Given the description of an element on the screen output the (x, y) to click on. 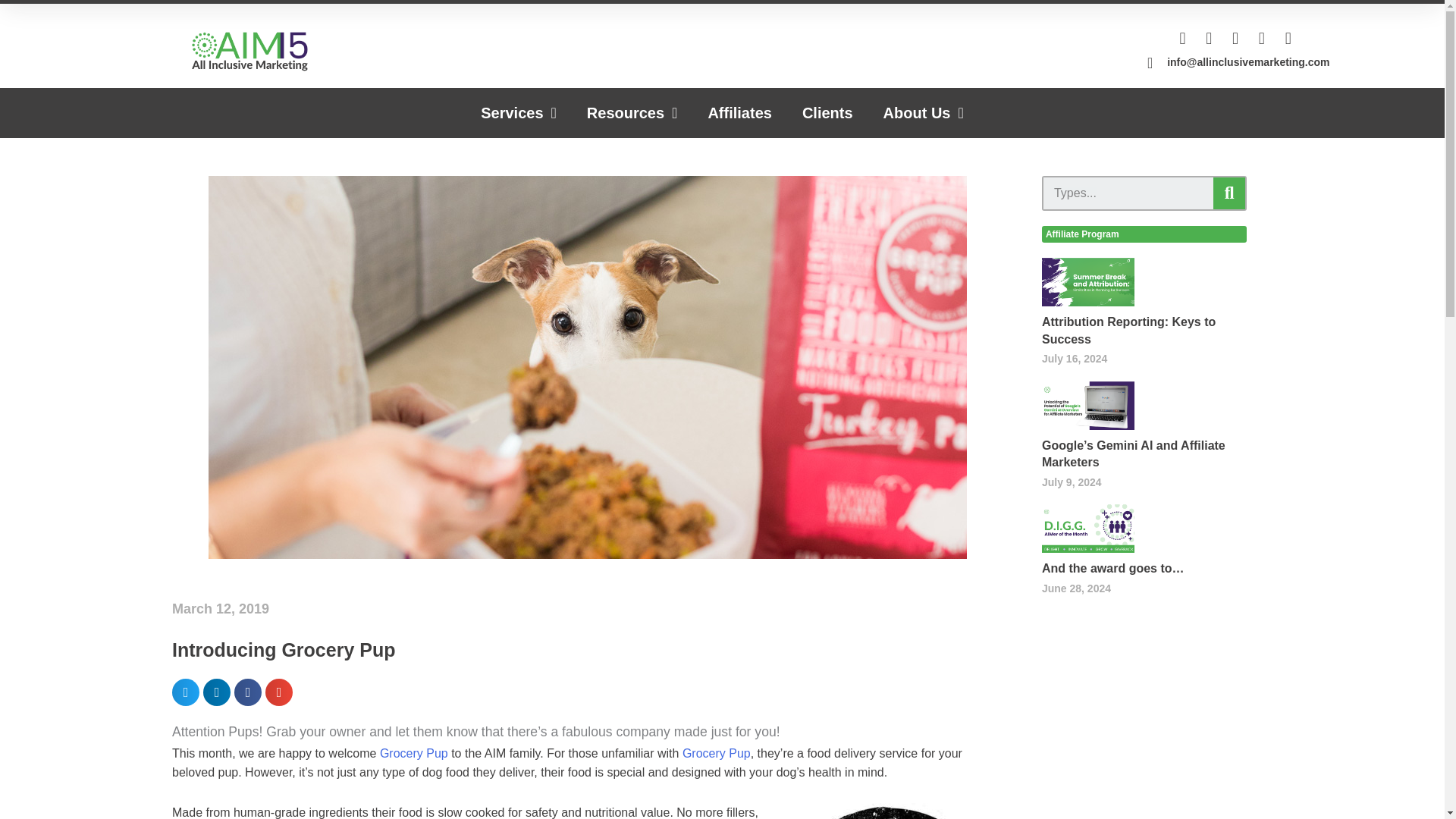
Search (1127, 193)
Search (1228, 193)
